Given the description of an element on the screen output the (x, y) to click on. 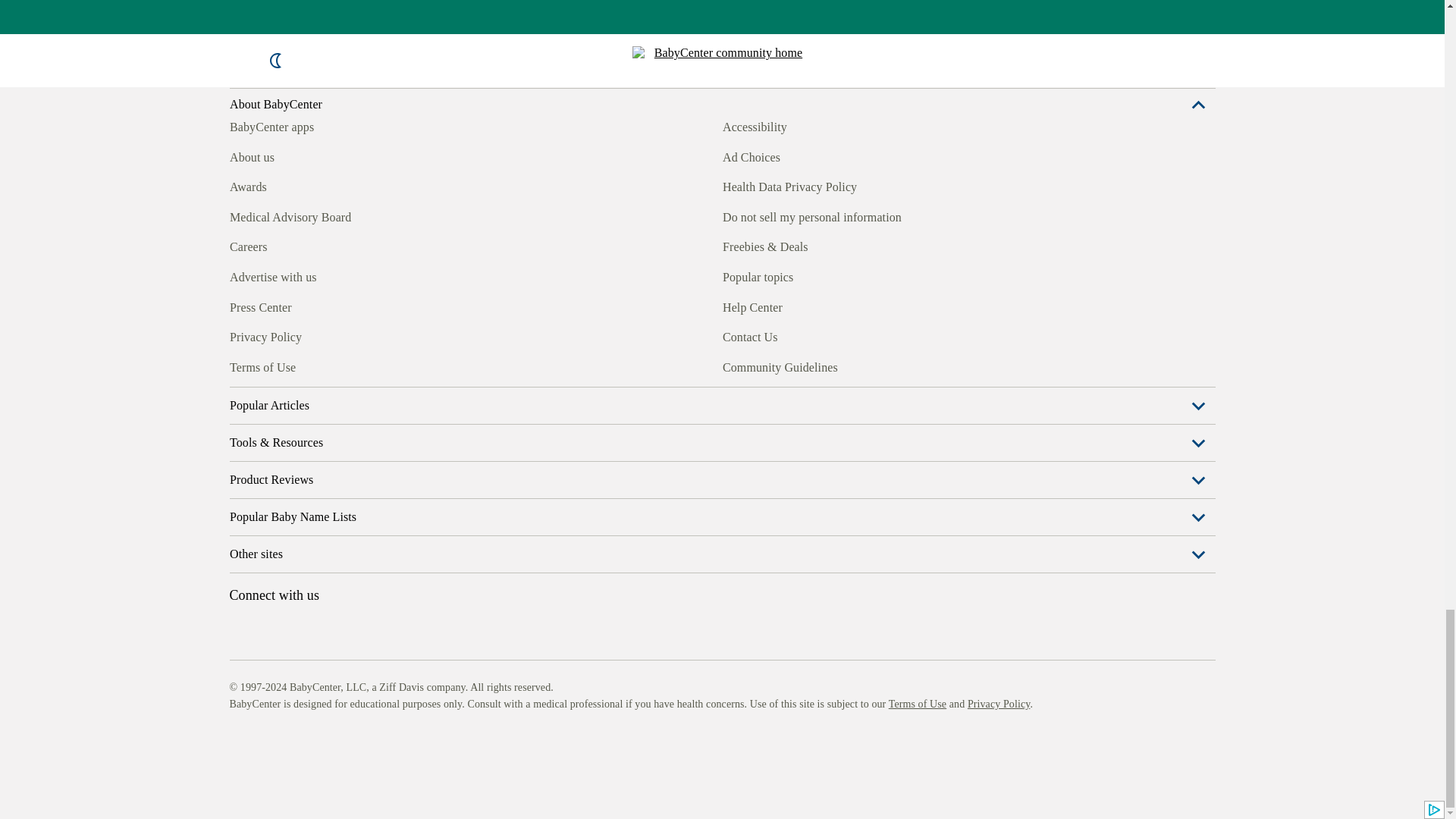
BabyCenter Facebook page (239, 364)
BabyCenter Pinterest board (309, 364)
BabyCenter Twitter feed (379, 364)
BabyCenter Instagram feed (274, 364)
BabyCenter YouTube channel (344, 364)
